Given the description of an element on the screen output the (x, y) to click on. 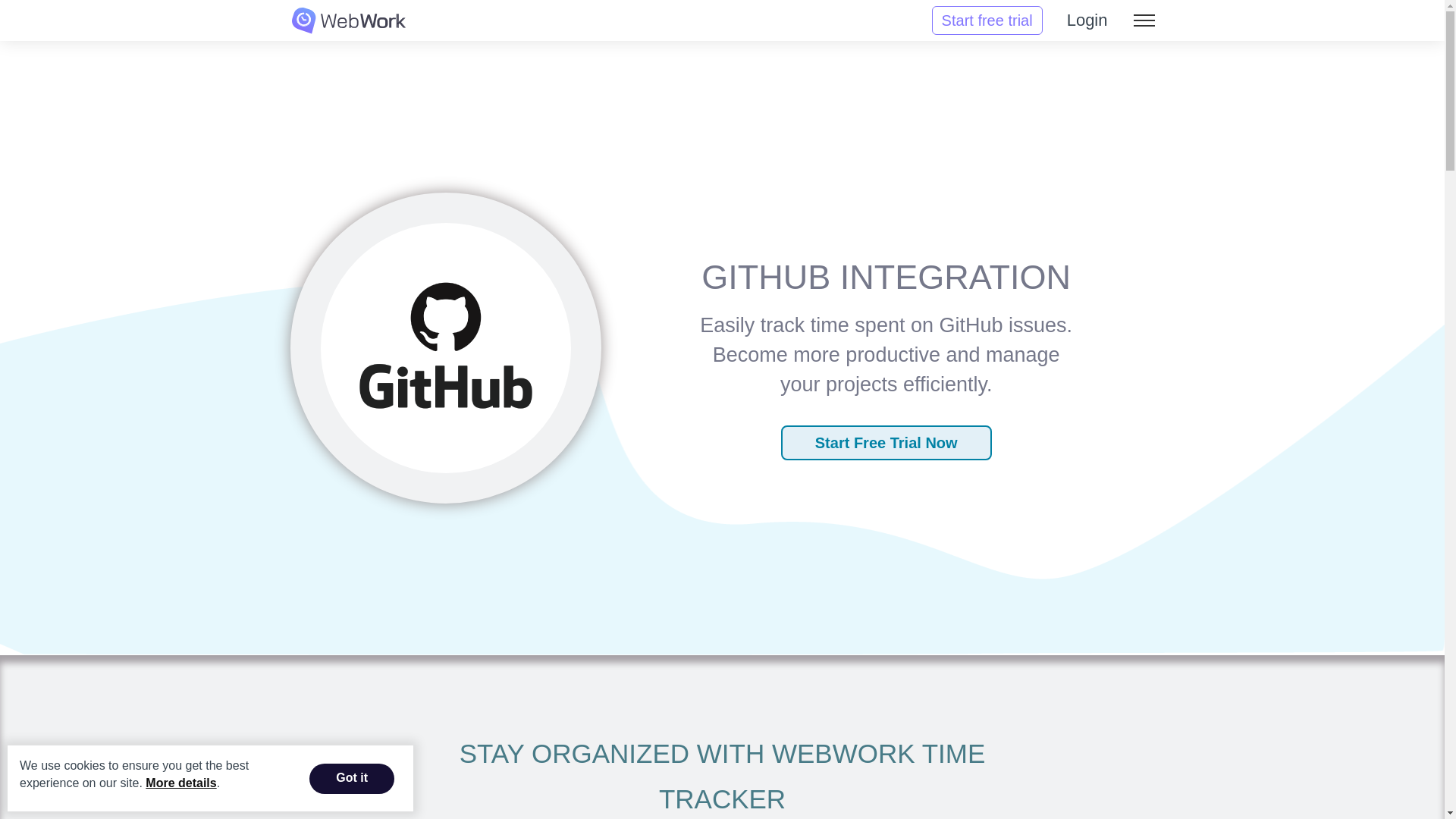
GitHub integration (445, 344)
Got it (351, 778)
Start free trial (986, 20)
Start Free Trial Now (885, 442)
More details (180, 782)
Login (1087, 19)
